Given the description of an element on the screen output the (x, y) to click on. 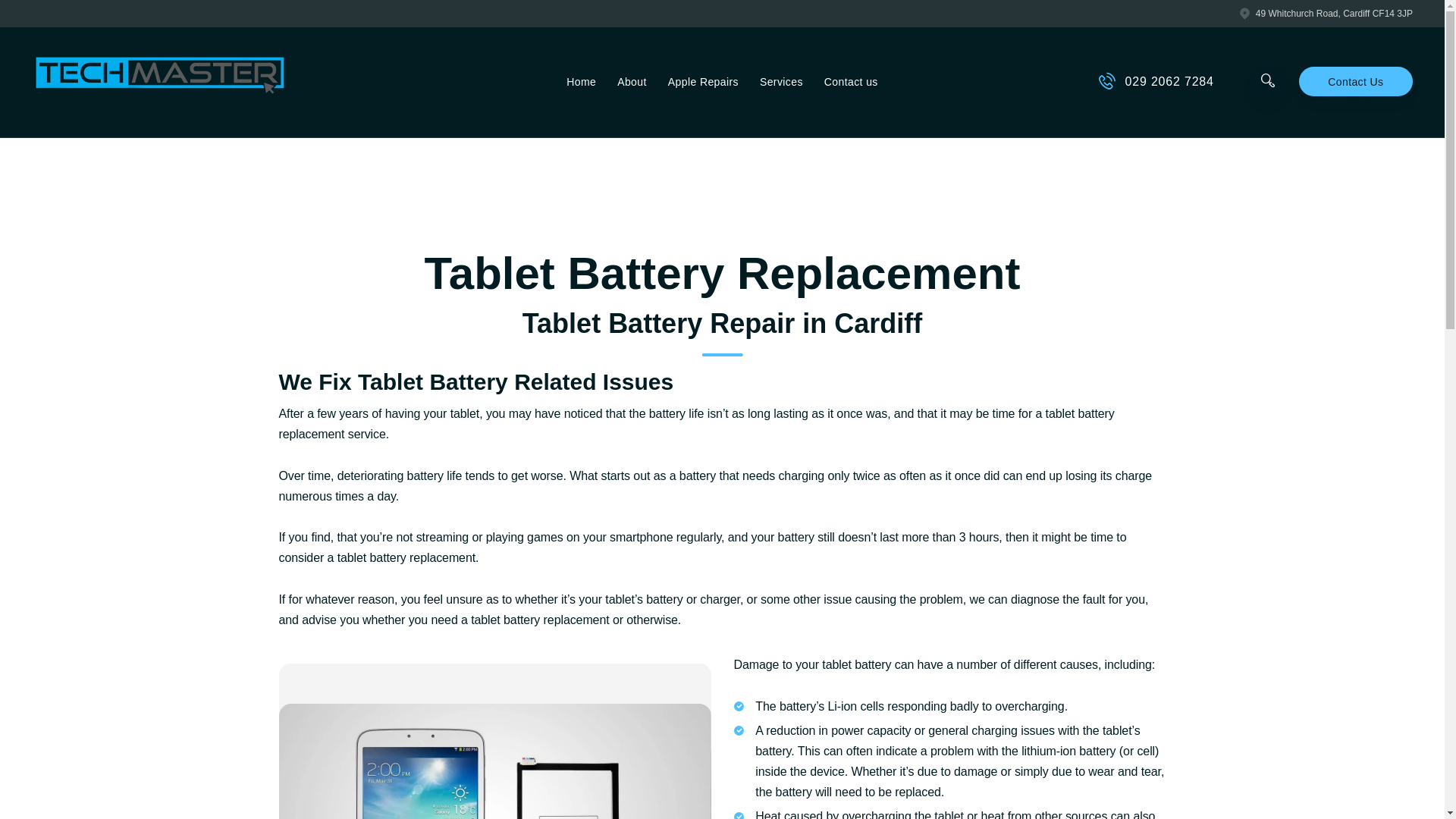
Services (781, 81)
029 2062 7284 (1156, 81)
Apple Repairs (703, 81)
Contact Us (1355, 81)
About (632, 81)
Contact us (850, 81)
Home (581, 81)
